Given the description of an element on the screen output the (x, y) to click on. 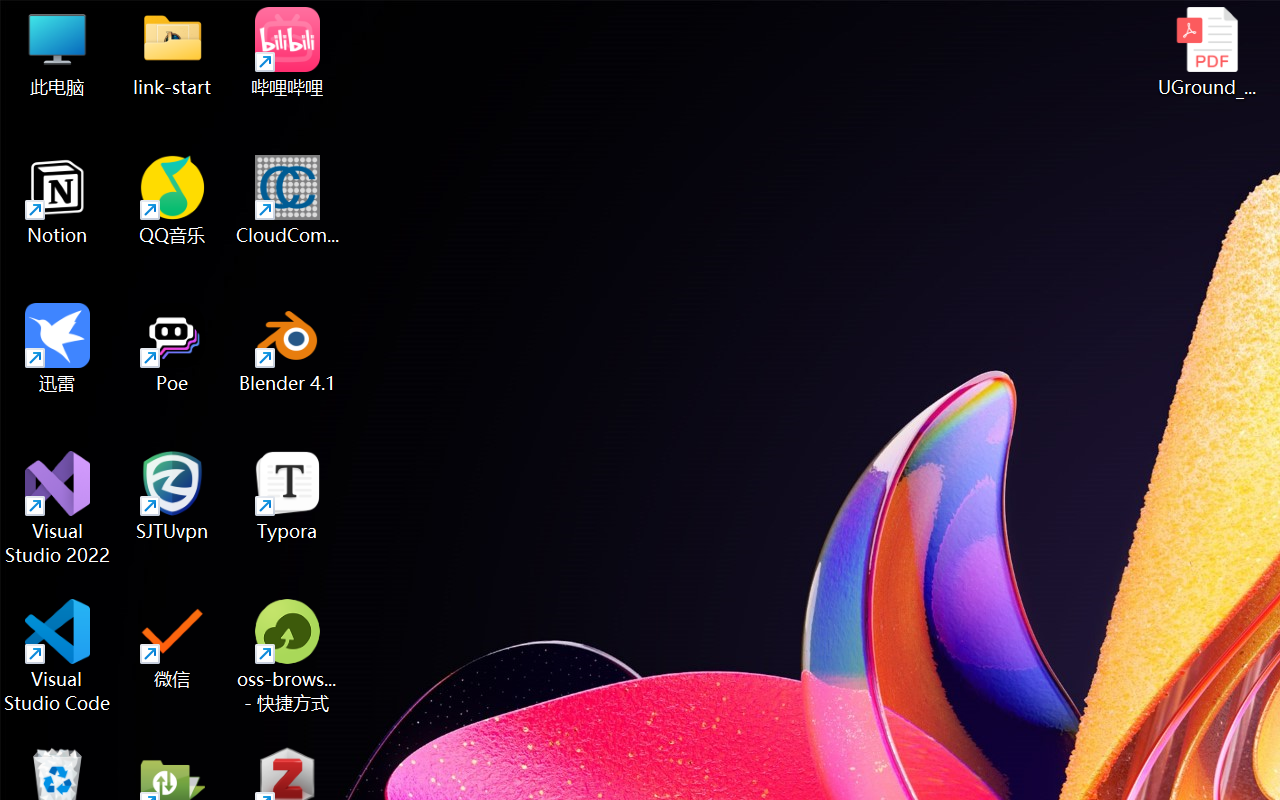
Visual Studio Code (57, 656)
SJTUvpn (172, 496)
Visual Studio 2022 (57, 508)
Typora (287, 496)
UGround_paper.pdf (1206, 52)
Blender 4.1 (287, 348)
CloudCompare (287, 200)
